Given the description of an element on the screen output the (x, y) to click on. 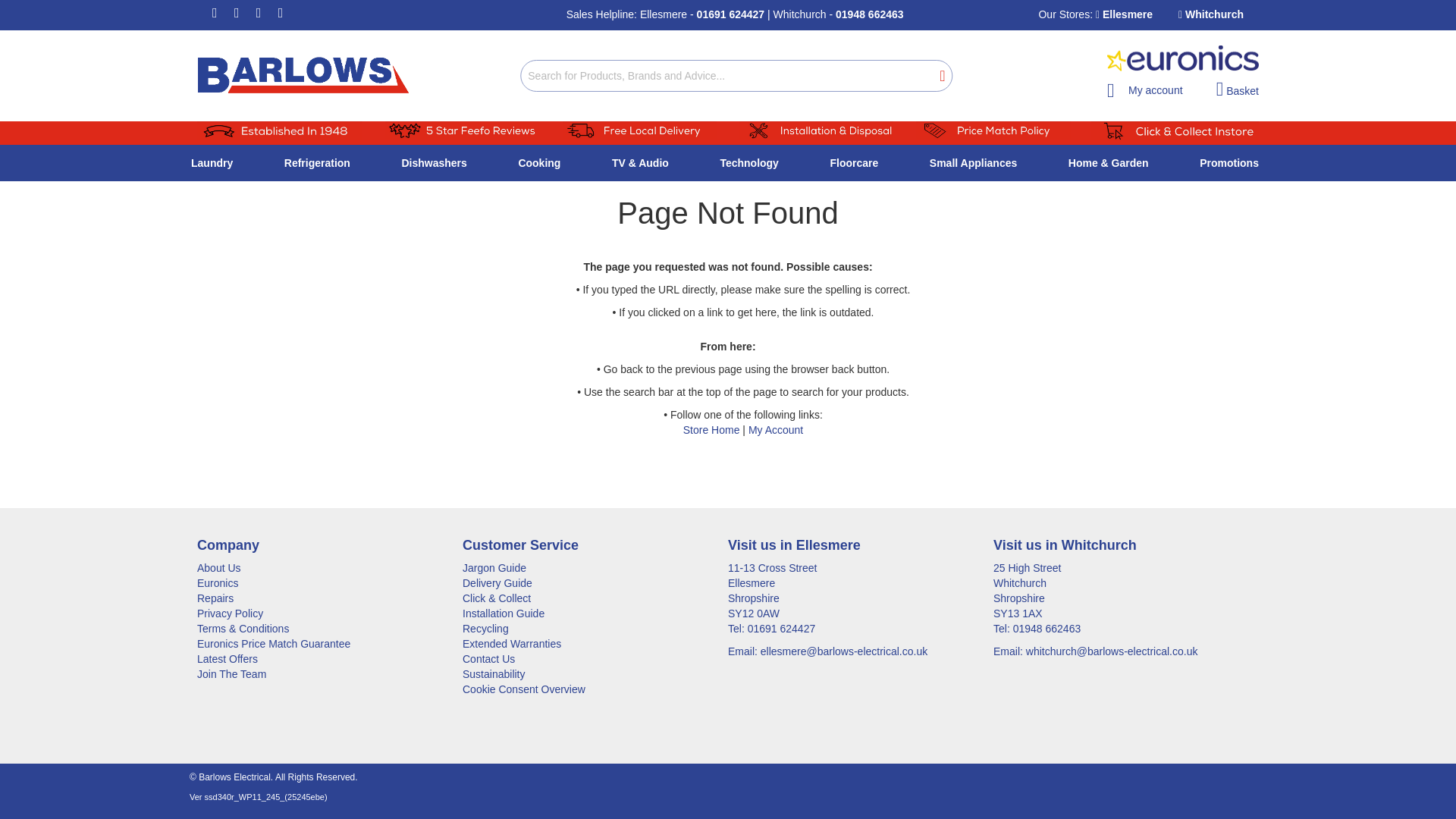
Ellesmere (1124, 14)
01948 662463 (869, 14)
Basket (1237, 88)
My account (1144, 86)
01691 624427 (731, 14)
Laundry (214, 162)
Whitchurch (1210, 14)
